Given the description of an element on the screen output the (x, y) to click on. 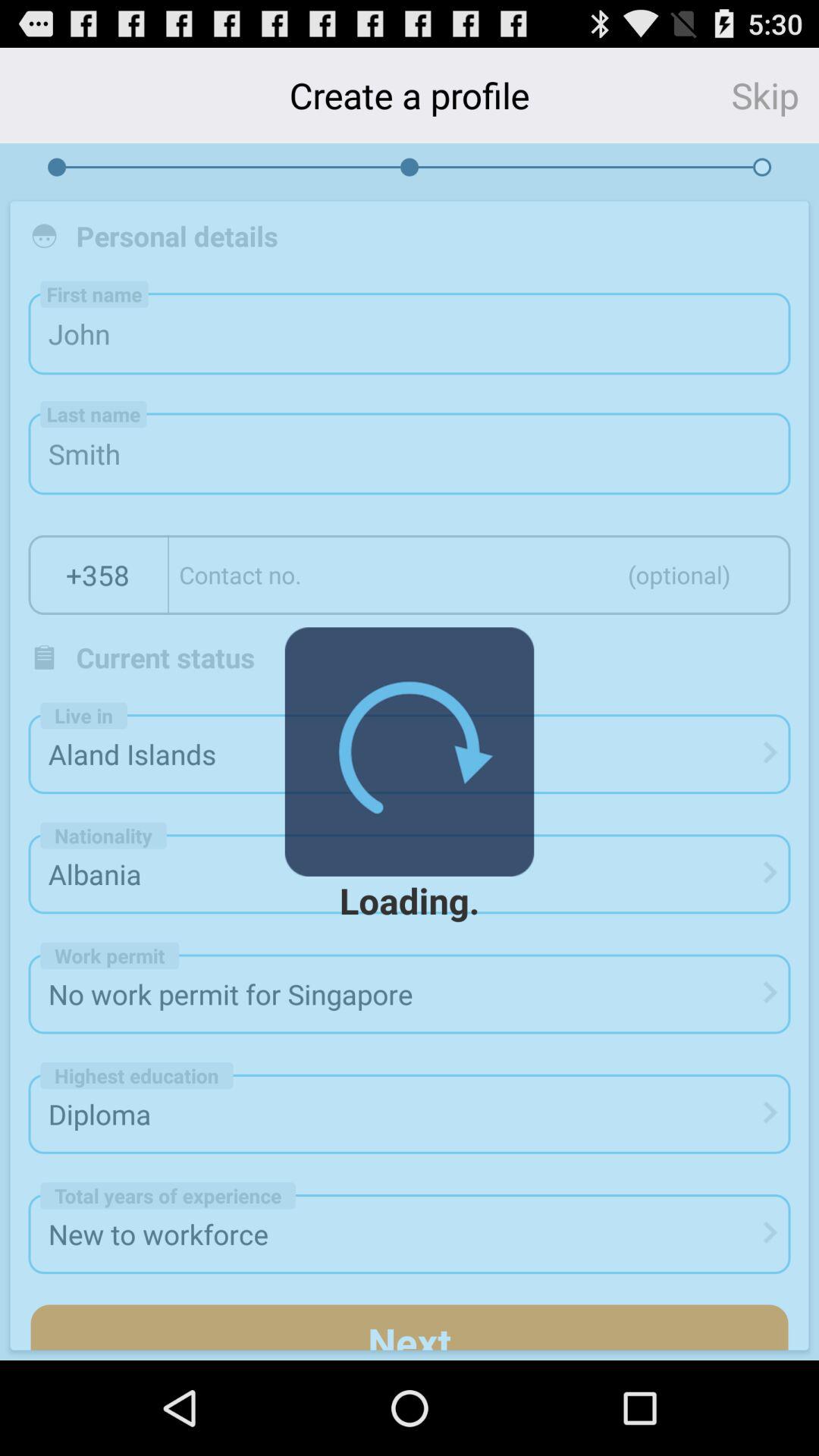
click on the button which is next to the create a profile (775, 95)
select the icon on the left to the text personal details on the web page (44, 235)
click the text right to 358 (479, 574)
click the icon left to current status (44, 657)
select the 2nd text field on the web page (409, 454)
click on loading button which is above loading (409, 751)
